Given the description of an element on the screen output the (x, y) to click on. 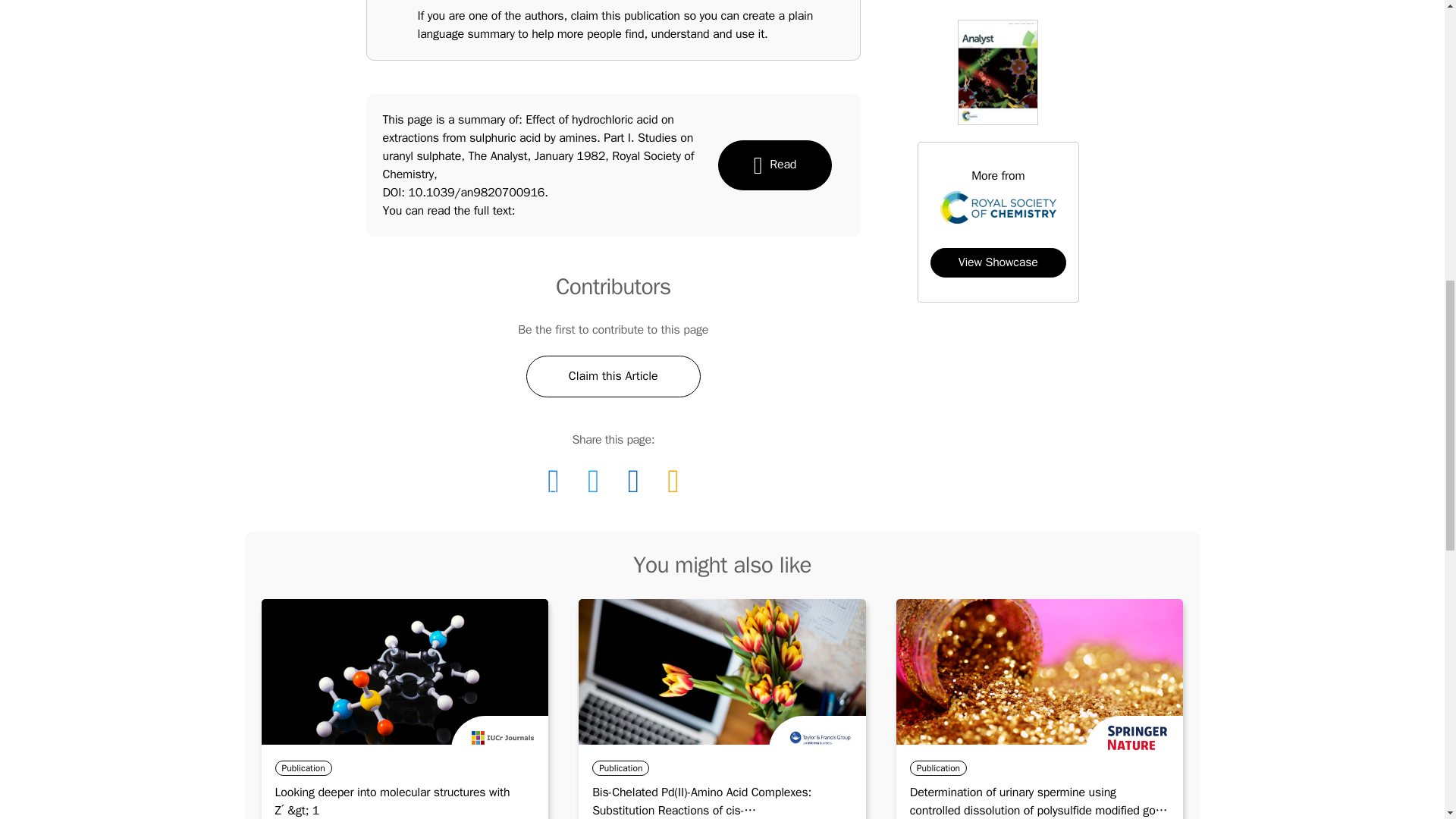
Read (774, 165)
View Showcase (997, 262)
Share this page via email (672, 480)
Share this page via Twitter (593, 480)
Claim this Article (612, 376)
Share this page via Facebook (553, 480)
Share this page via LinkedIn (633, 480)
